Given the description of an element on the screen output the (x, y) to click on. 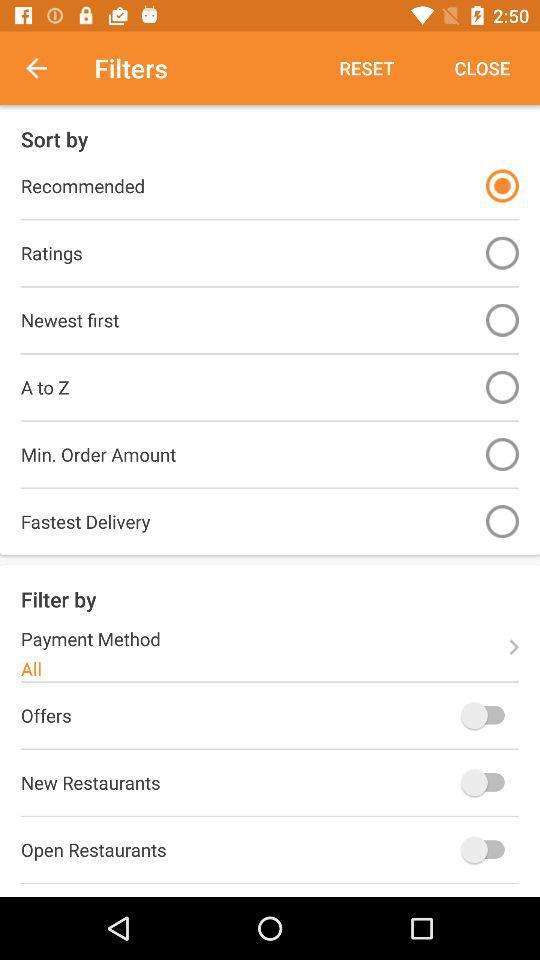
select option (502, 185)
